Given the description of an element on the screen output the (x, y) to click on. 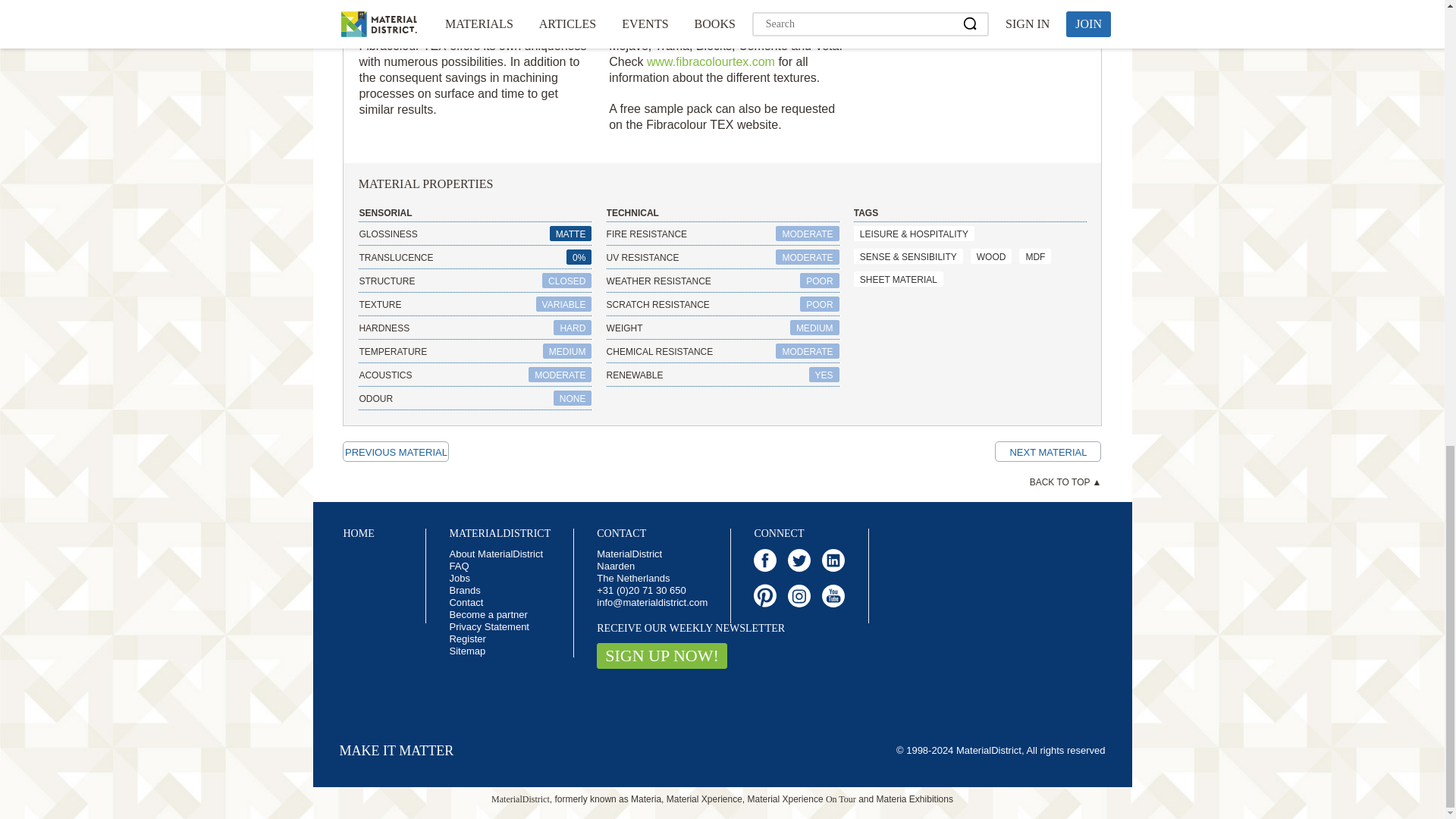
Recycled Jeans on The Wall (395, 451)
Home (358, 532)
Fibranatur TEX (1047, 451)
VARIABLE (563, 304)
MATTE (571, 233)
www.fibracolourtex.com (710, 61)
CLOSED (566, 280)
